Given the description of an element on the screen output the (x, y) to click on. 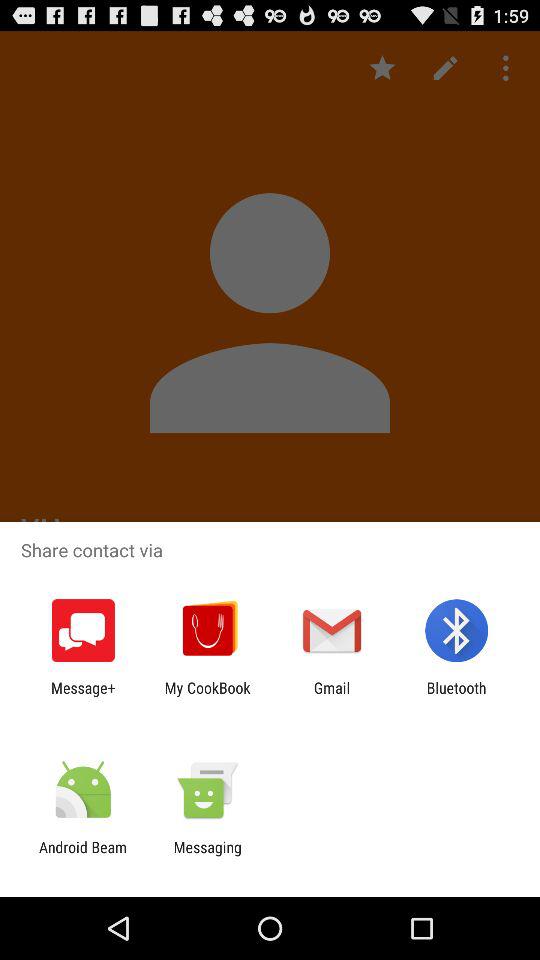
launch icon to the left of messaging icon (83, 856)
